Given the description of an element on the screen output the (x, y) to click on. 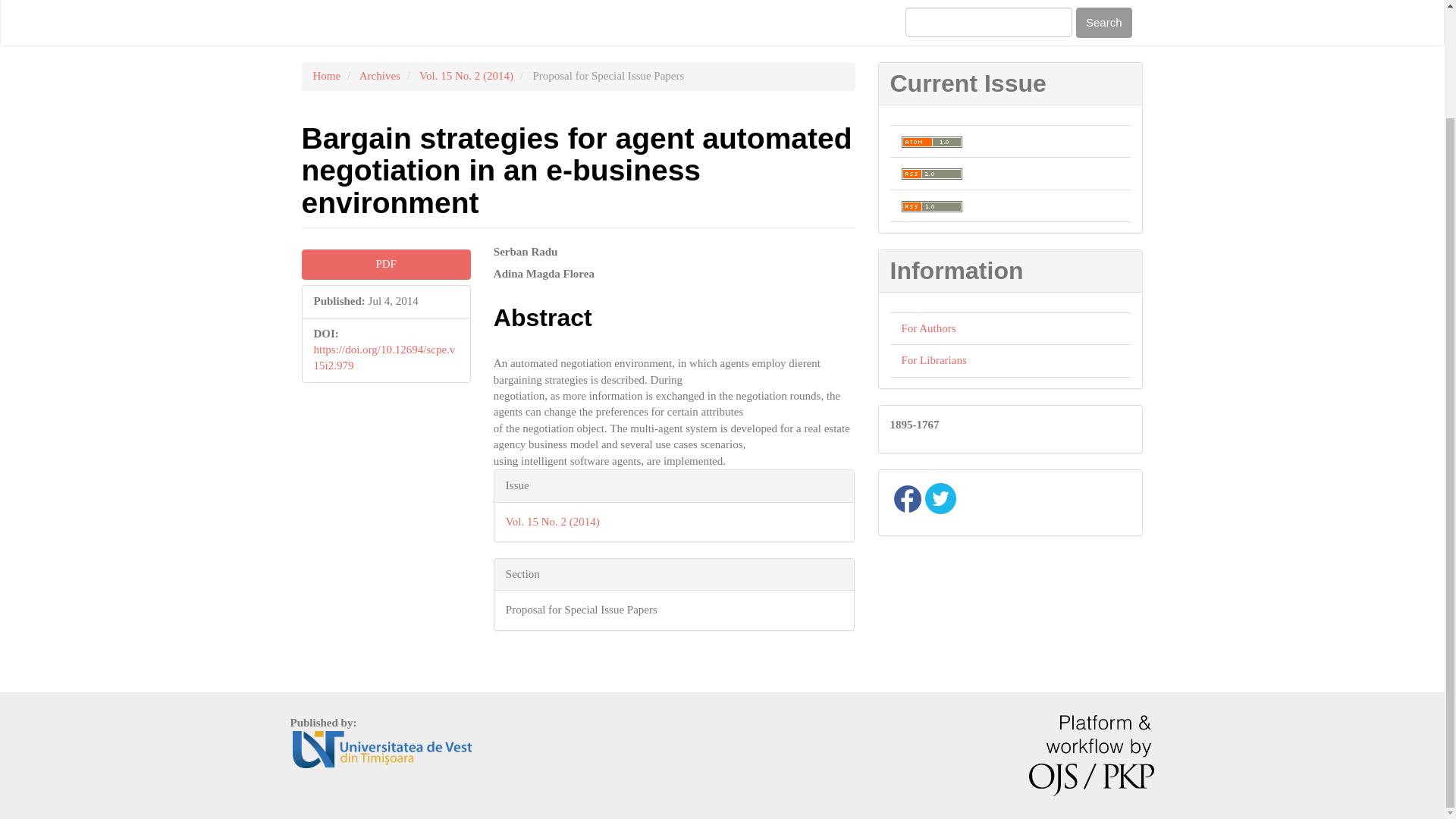
PDF (385, 264)
Universitatea de Vest din Timisoara (381, 748)
For Authors (928, 328)
For Librarians (933, 359)
Home (326, 75)
Search (1103, 21)
Archives (379, 75)
